Given the description of an element on the screen output the (x, y) to click on. 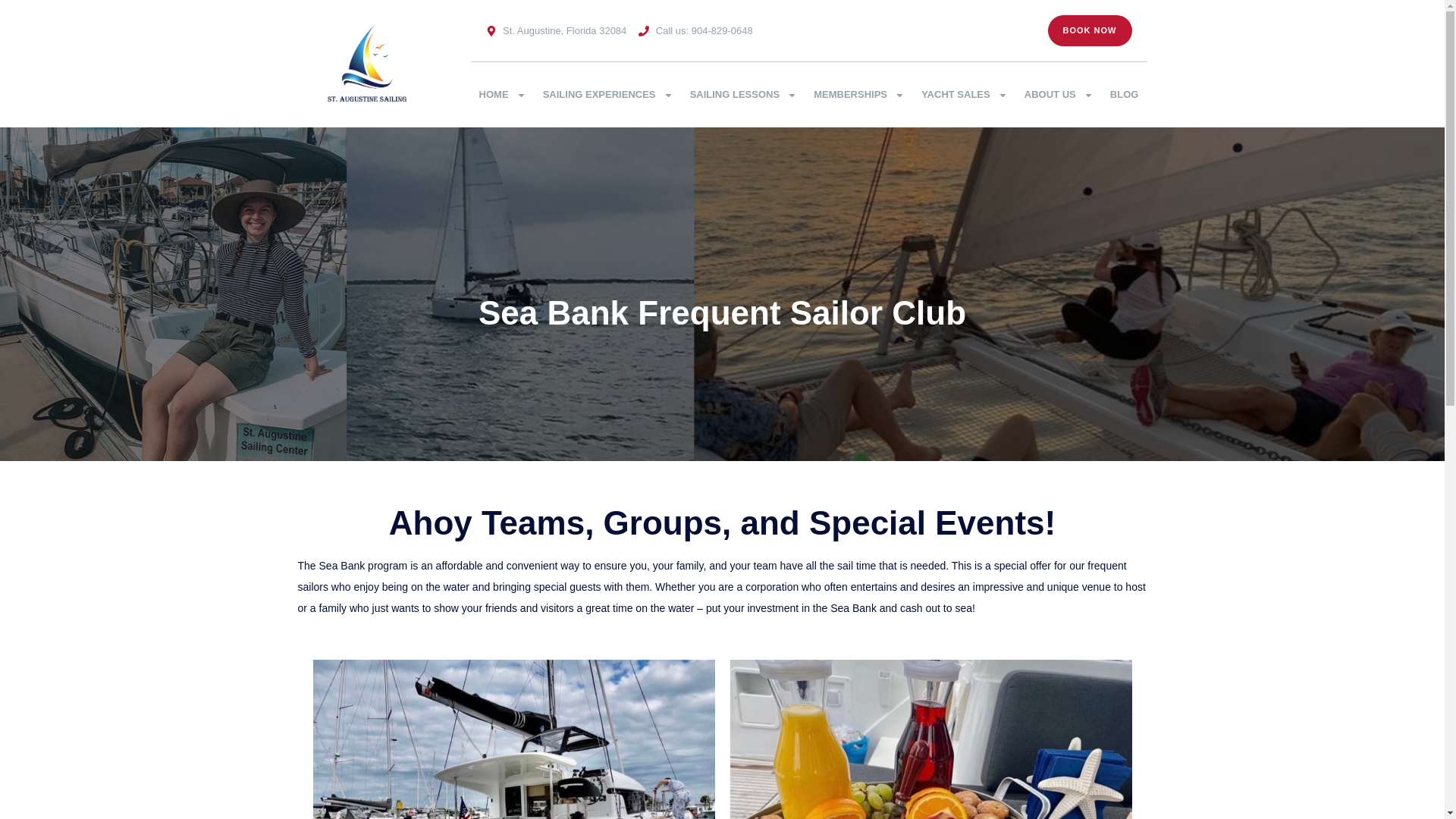
Call us: 904-829-0648 (695, 30)
SAILING EXPERIENCES (607, 94)
ABOUT US (1059, 94)
BOOK NOW (1090, 30)
MEMBERSHIPS (858, 94)
SAILING LESSONS (743, 94)
HOME (502, 94)
YACHT SALES (964, 94)
